Given the description of an element on the screen output the (x, y) to click on. 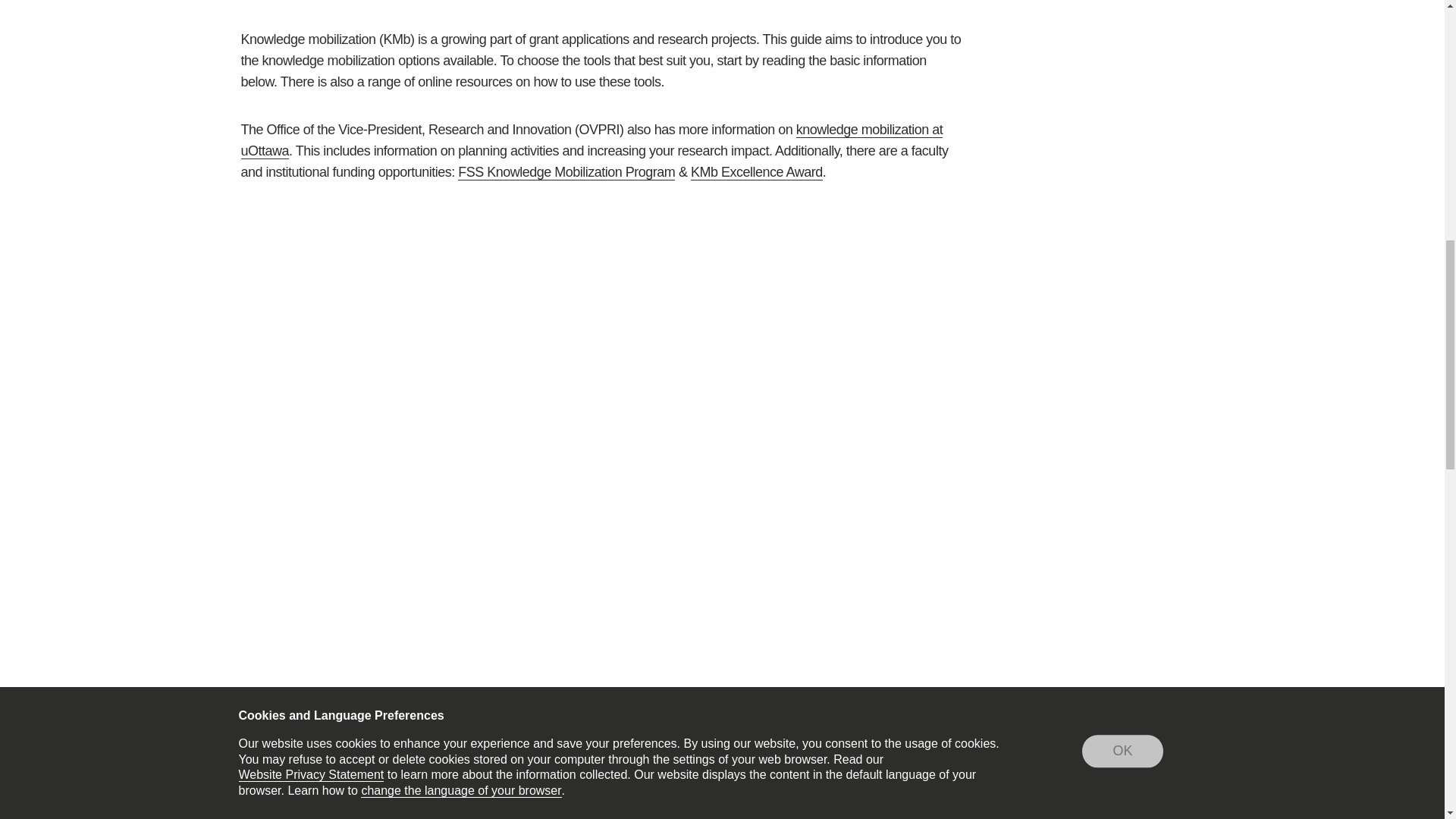
knowledge mobilization at uOttawa (592, 140)
FSS Knowledge Mobilization Program (566, 171)
KMb Excellence Award (756, 171)
external link (656, 1)
